Given the description of an element on the screen output the (x, y) to click on. 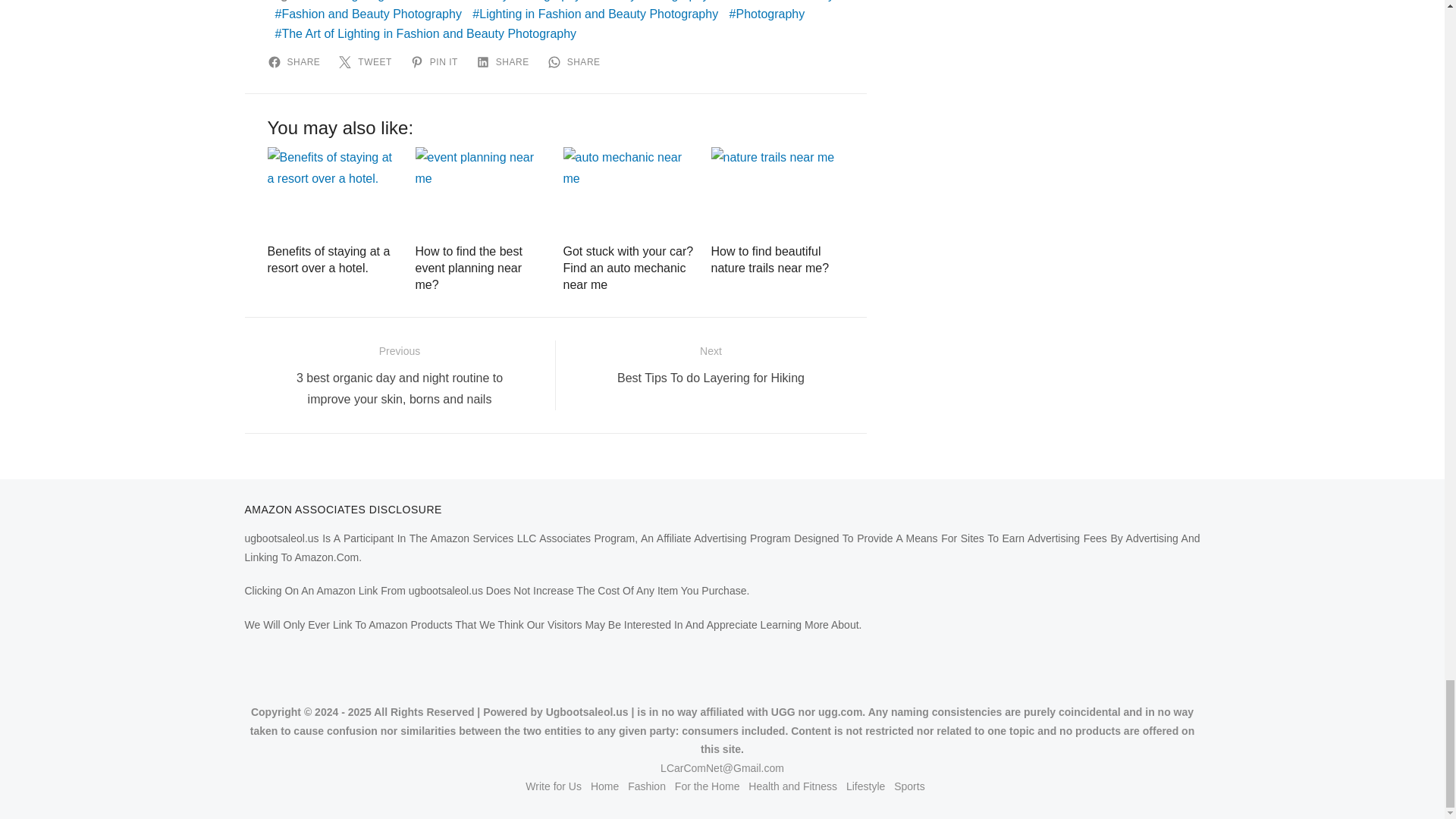
Share on Pinterest (437, 62)
Share on Facebook (296, 62)
Share on LinkedIn (505, 62)
Share on Twitter (367, 62)
Share on WhatsApp (577, 62)
